Given the description of an element on the screen output the (x, y) to click on. 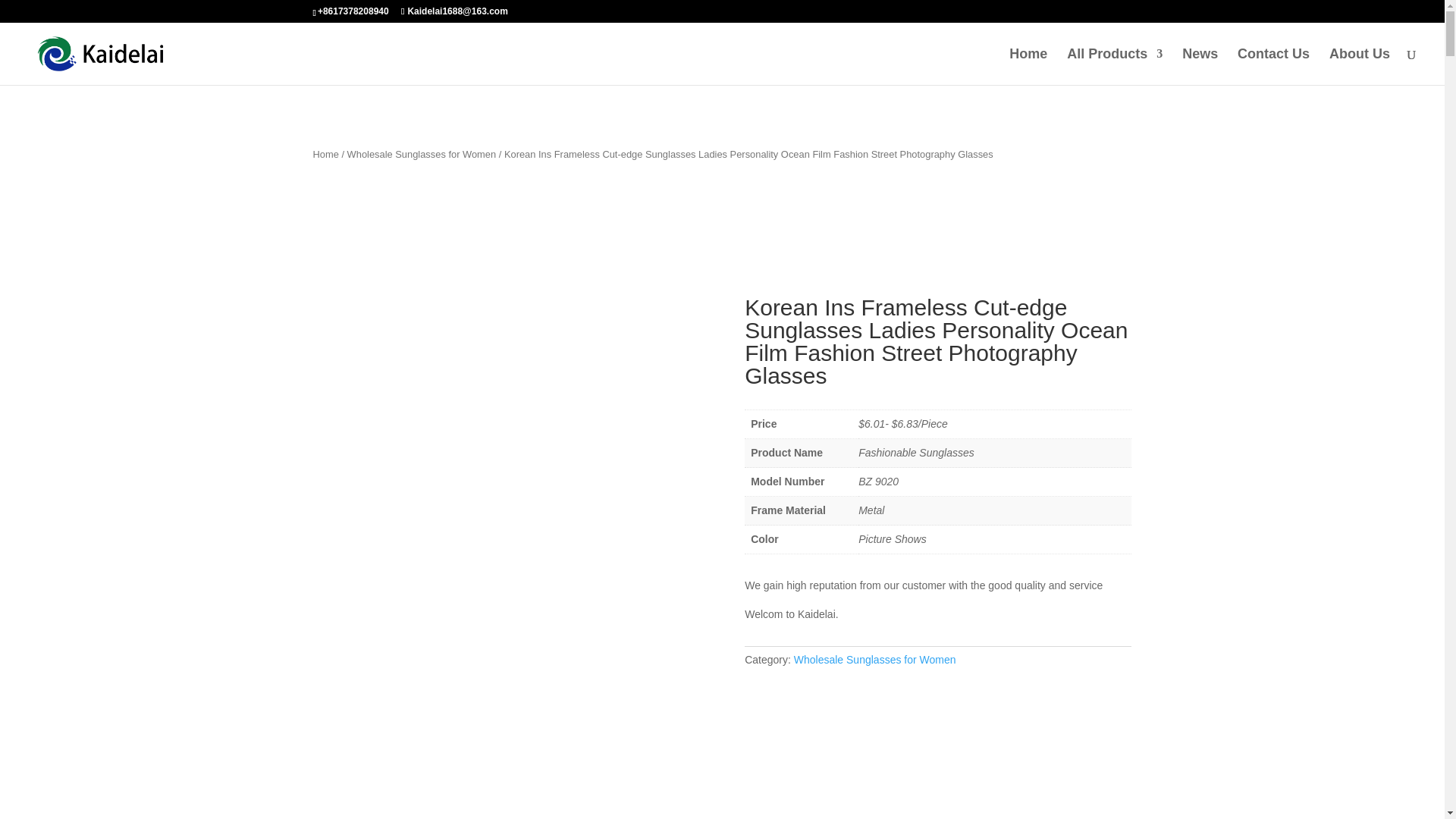
All Products (1114, 66)
About Us (1359, 66)
Home (1027, 66)
Contact Us (1272, 66)
News (1199, 66)
Home (325, 153)
Wholesale Sunglasses for Women (874, 659)
Wholesale Sunglasses for Women (421, 153)
